Given the description of an element on the screen output the (x, y) to click on. 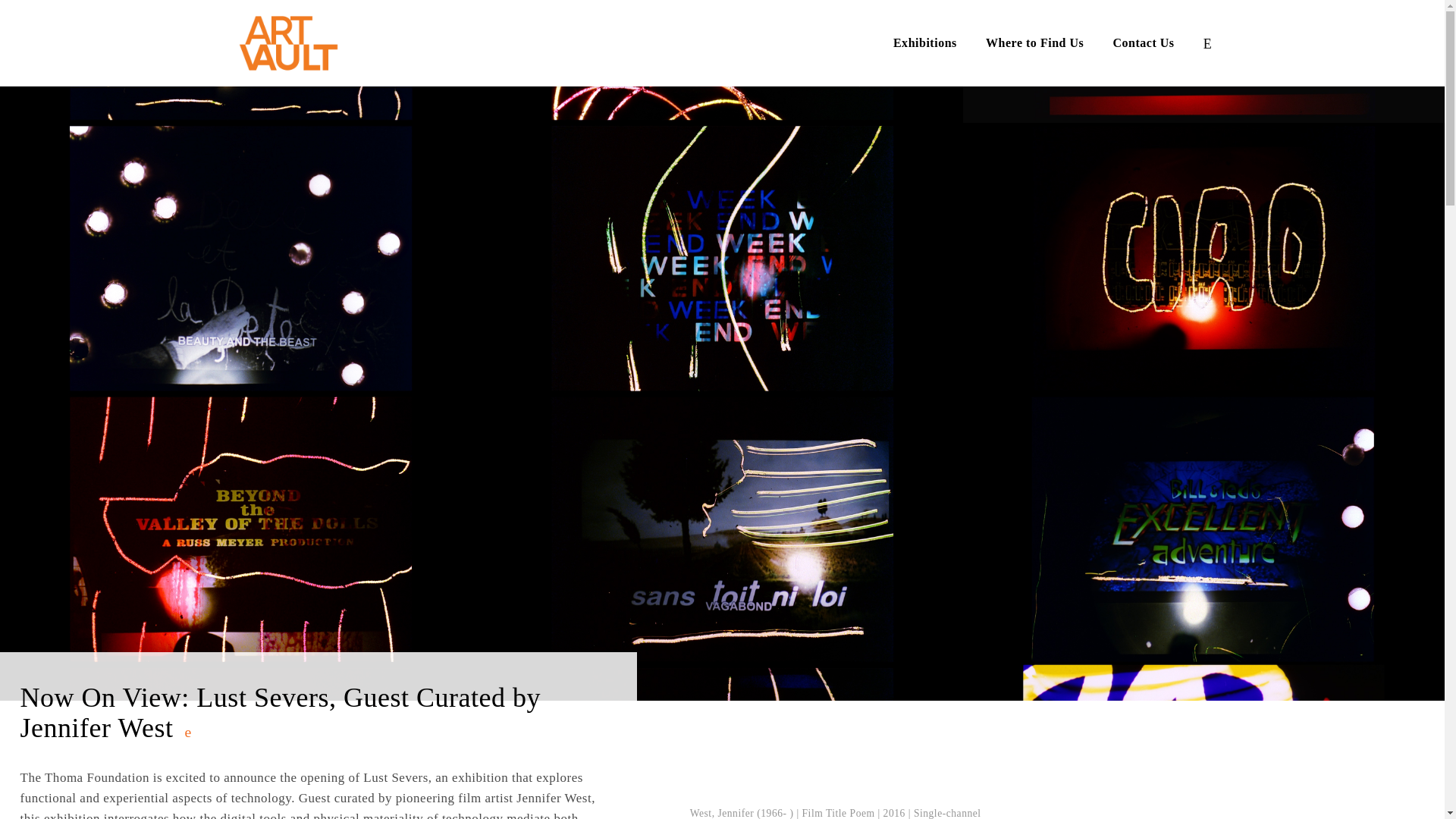
Contact Us (1143, 43)
Art Vault (302, 43)
Where to Find Us (1034, 43)
Now On View: Lust Severs, Guest Curated by Jennifer West (313, 714)
Exhibitions (924, 43)
